Given the description of an element on the screen output the (x, y) to click on. 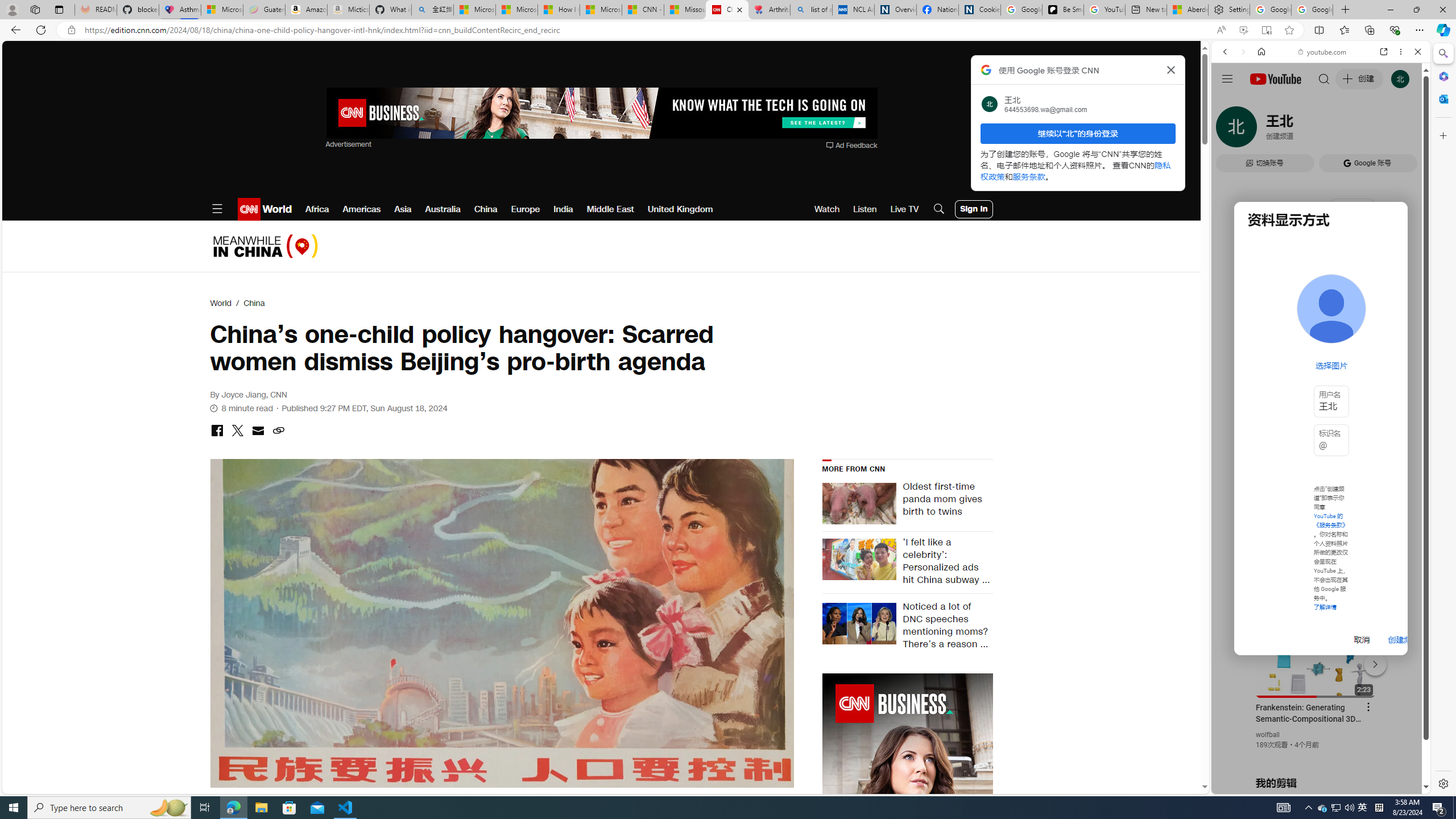
Be Smart | creating Science videos | Patreon (1062, 9)
WEB   (1230, 130)
Music (1320, 309)
wolfball (1268, 734)
Asthma Inhalers: Names and Types (179, 9)
